Given the description of an element on the screen output the (x, y) to click on. 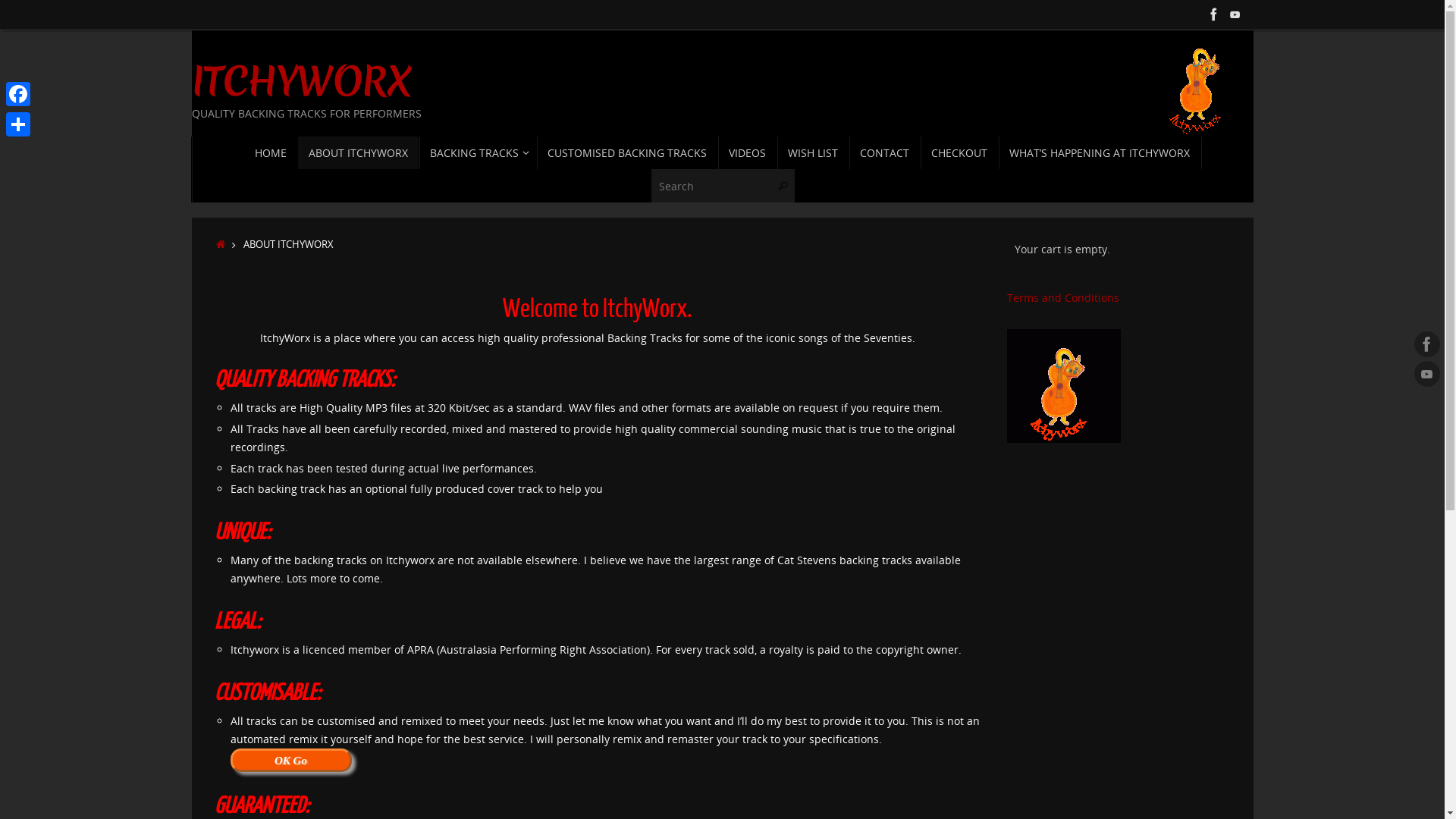
VIDEOS Element type: text (747, 152)
CUSTOMISED BACKING TRACKS Element type: text (627, 152)
CHECKOUT Element type: text (959, 152)
BACKING TRACKS Element type: text (477, 152)
YouTube Element type: hover (1427, 373)
Share Element type: text (18, 124)
Facebook Element type: text (18, 93)
Facebook Element type: hover (1212, 14)
YouTube Element type: hover (1234, 14)
ABOUT ITCHYWORX Element type: text (358, 152)
Facebook Element type: hover (1427, 344)
ITCHYWORX Element type: text (301, 81)
CONTACT Element type: text (884, 152)
WISH LIST Element type: text (813, 152)
OK Go Element type: text (290, 759)
Terms and Conditions Element type: text (1063, 297)
HOME Element type: text (271, 152)
